Given the description of an element on the screen output the (x, y) to click on. 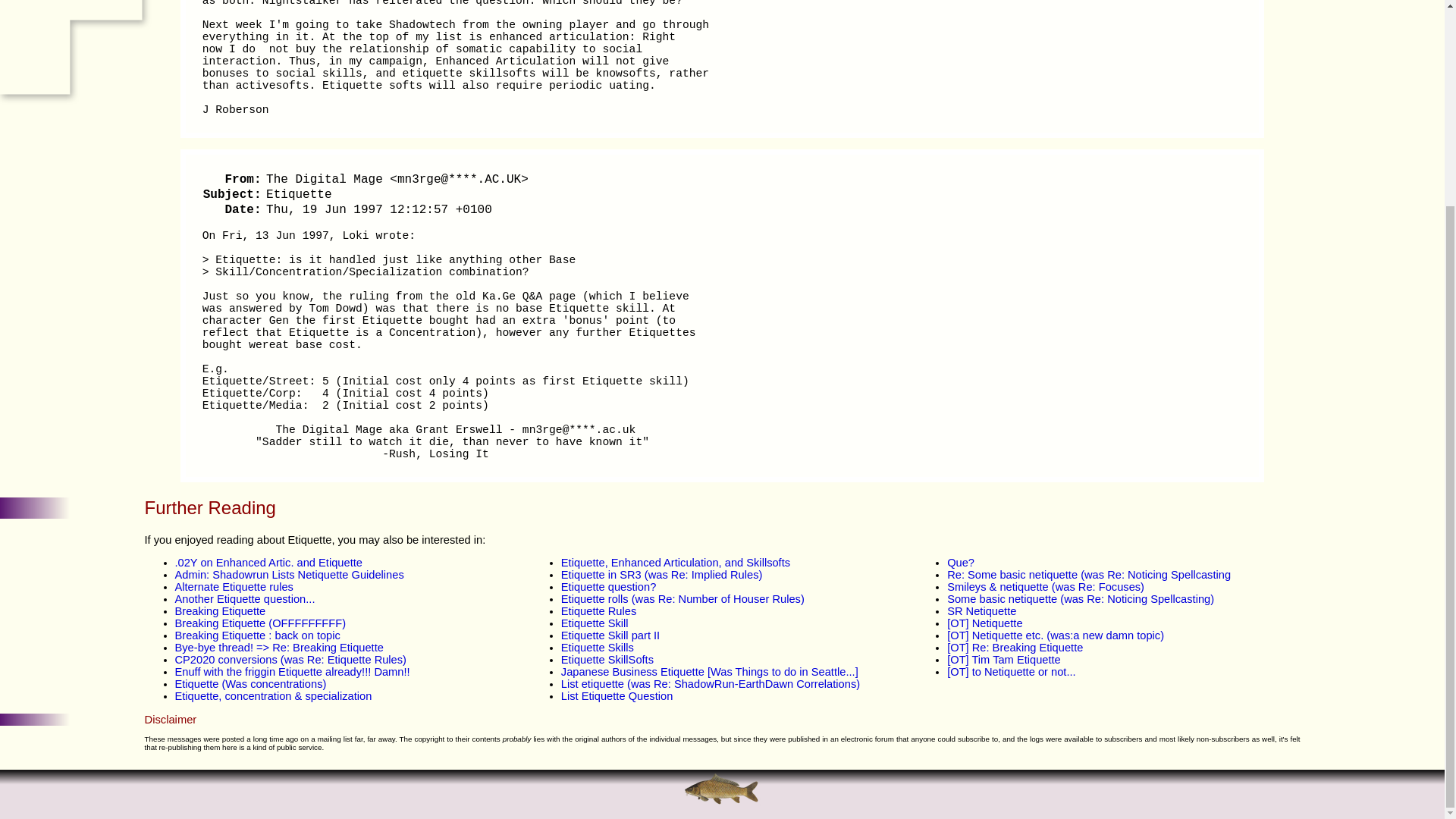
Etiquette Skill (594, 623)
Etiquette, Enhanced Articulation, and Skillsofts (675, 562)
Breaking Etiquette : back on topic (256, 635)
Admin: Shadowrun Lists Netiquette Guidelines (288, 574)
Breaking Etiquette (219, 611)
SR Netiquette (981, 611)
Enuff with the friggin Etiquette already!!! Damn!! (291, 671)
Etiquette Skills (596, 647)
Etiquette question? (608, 586)
Etiquette SkillSofts (606, 659)
